Given the description of an element on the screen output the (x, y) to click on. 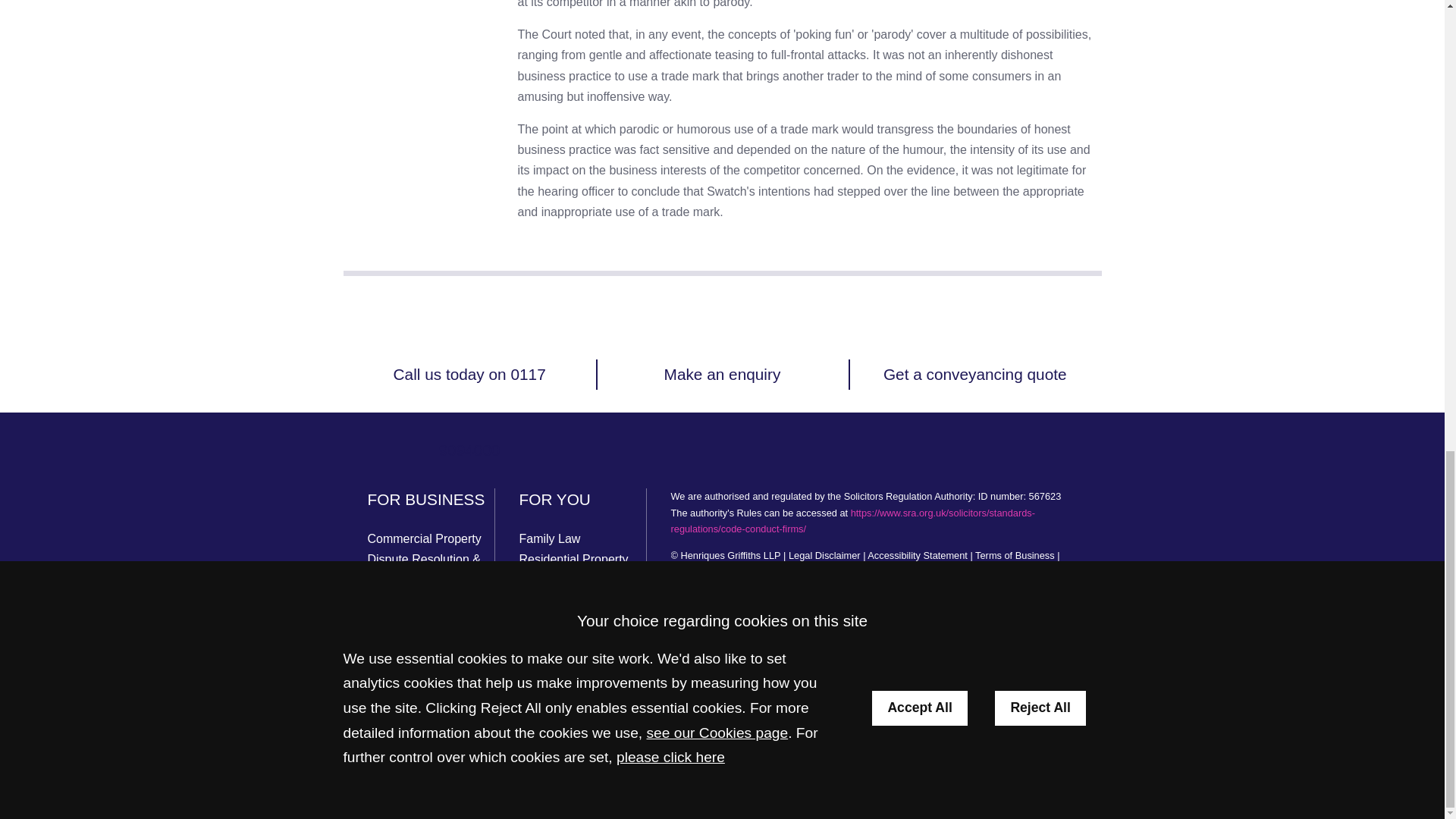
Make an enquiry (721, 374)
Get a conveyancing quote (975, 374)
Call us today on 0117 9094000 (469, 411)
